Given the description of an element on the screen output the (x, y) to click on. 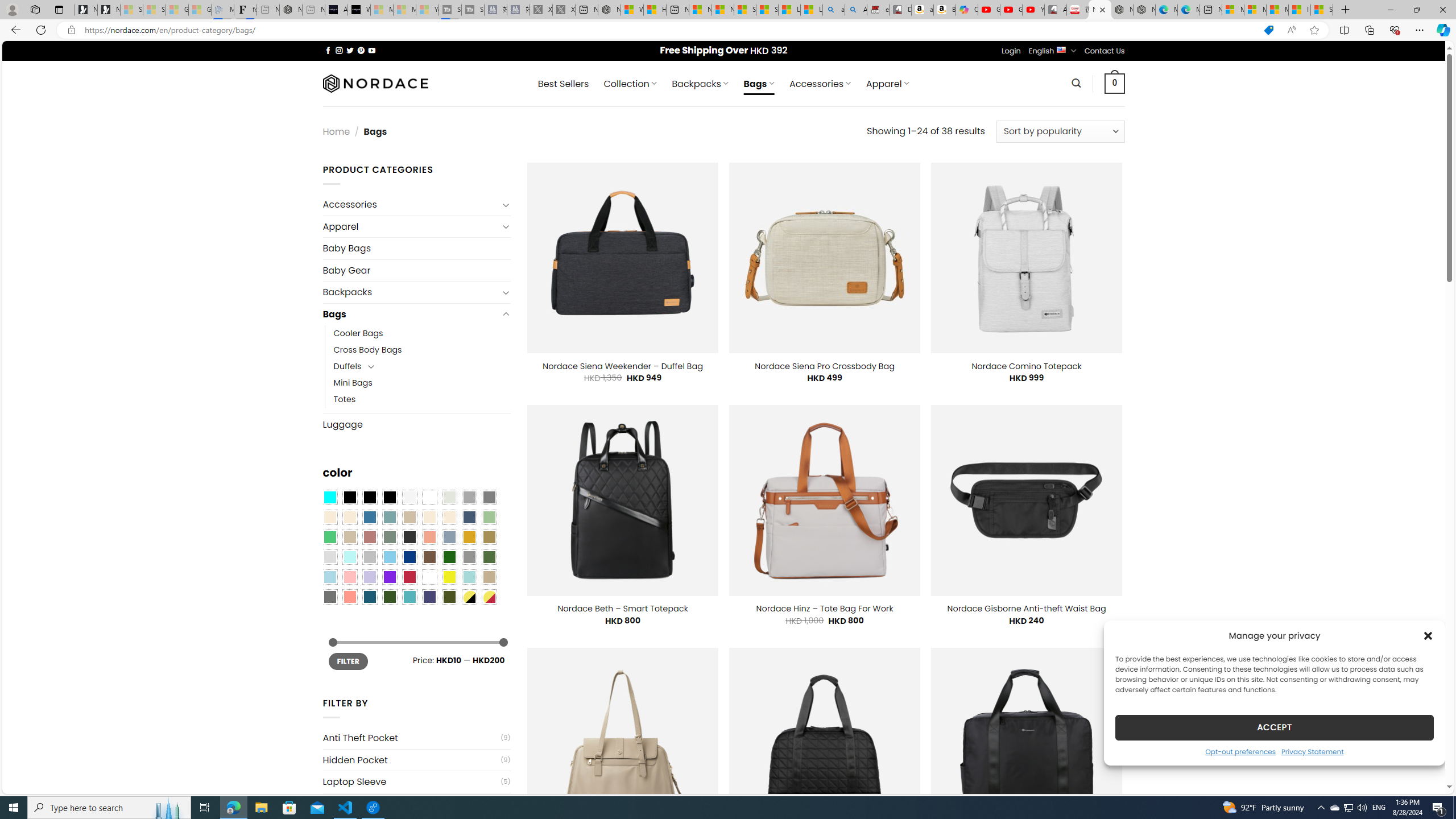
 Best Sellers (563, 83)
Beige-Brown (349, 517)
Light Gray (329, 557)
Dull Nickle (329, 596)
Home (335, 131)
Yellow (449, 577)
Blue (369, 517)
Shop order (1060, 131)
Kelp (488, 536)
USB Charging Port (410, 803)
  Best Sellers (563, 83)
Nordace Gisborne Anti-theft Waist Bag (1026, 608)
Nordace Siena Pro Crossbody Bag (823, 365)
Green (488, 557)
